Given the description of an element on the screen output the (x, y) to click on. 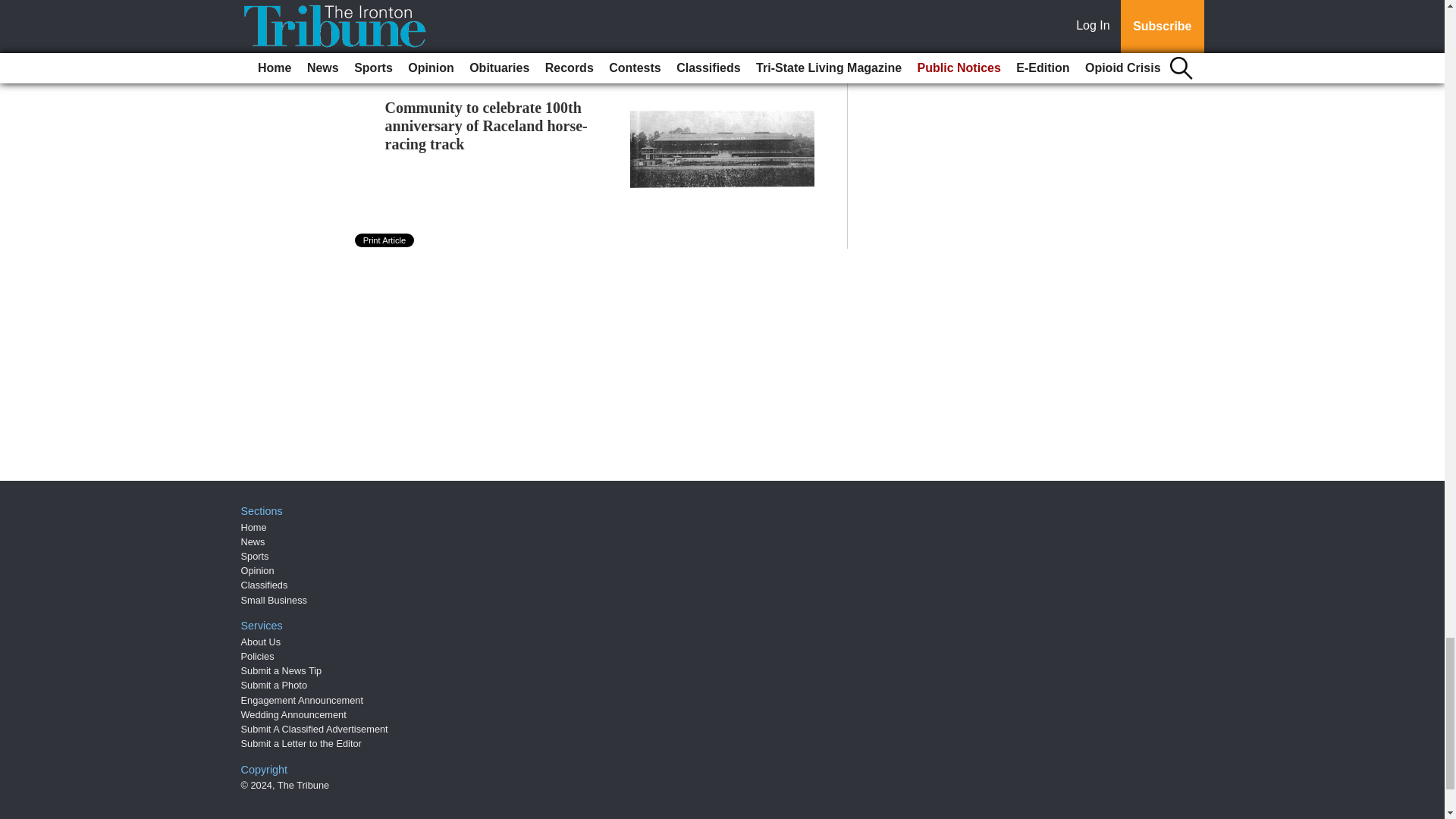
Print Article (384, 240)
